Given the description of an element on the screen output the (x, y) to click on. 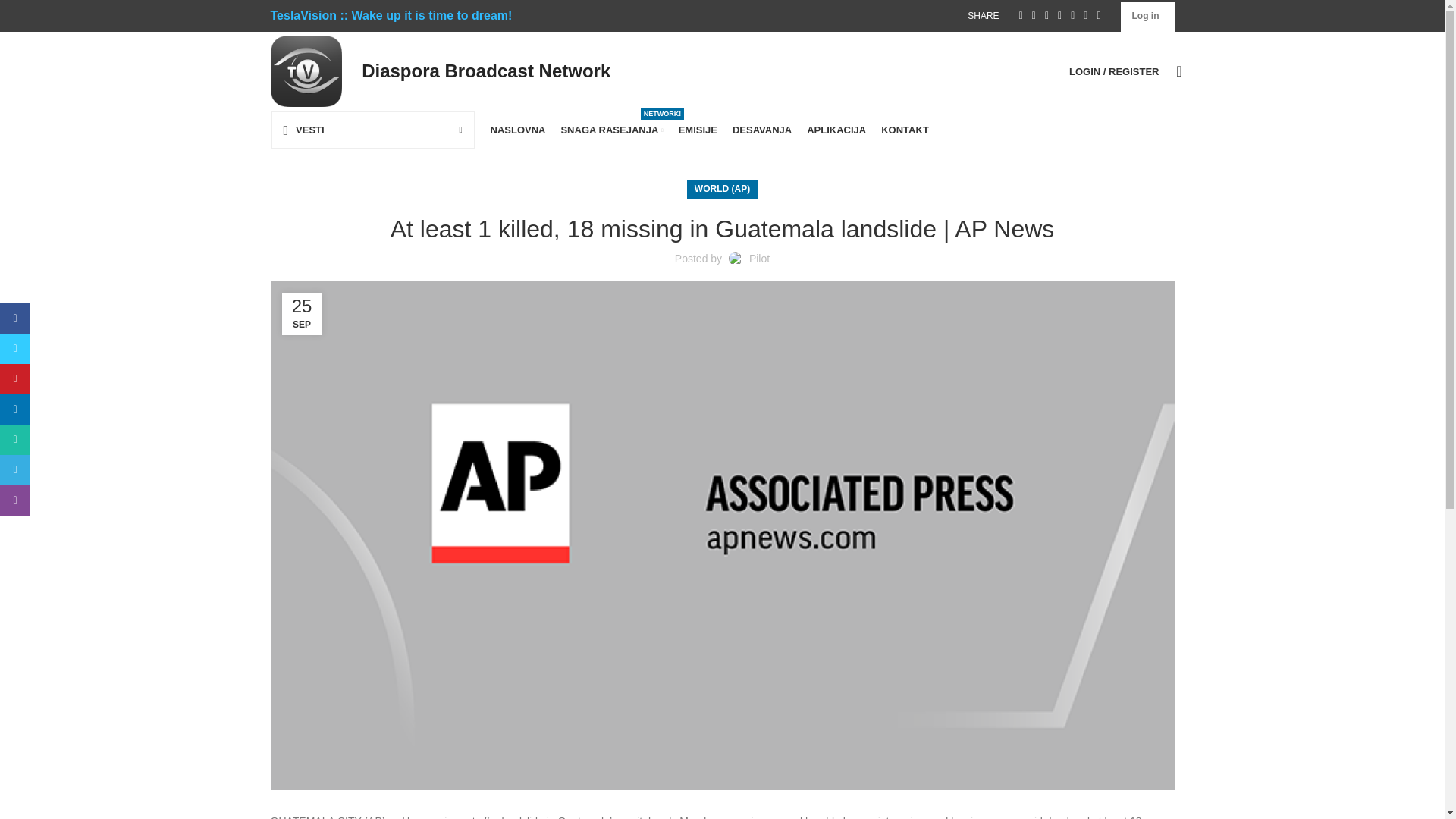
EMISIJE (697, 130)
KONTAKT (904, 130)
NASLOVNA (516, 130)
 Diaspora Broadcast Network (483, 70)
Log in (1144, 15)
My account (1113, 71)
DESAVANJA (762, 130)
Log in (1034, 312)
APLIKACIJA (836, 130)
